Given the description of an element on the screen output the (x, y) to click on. 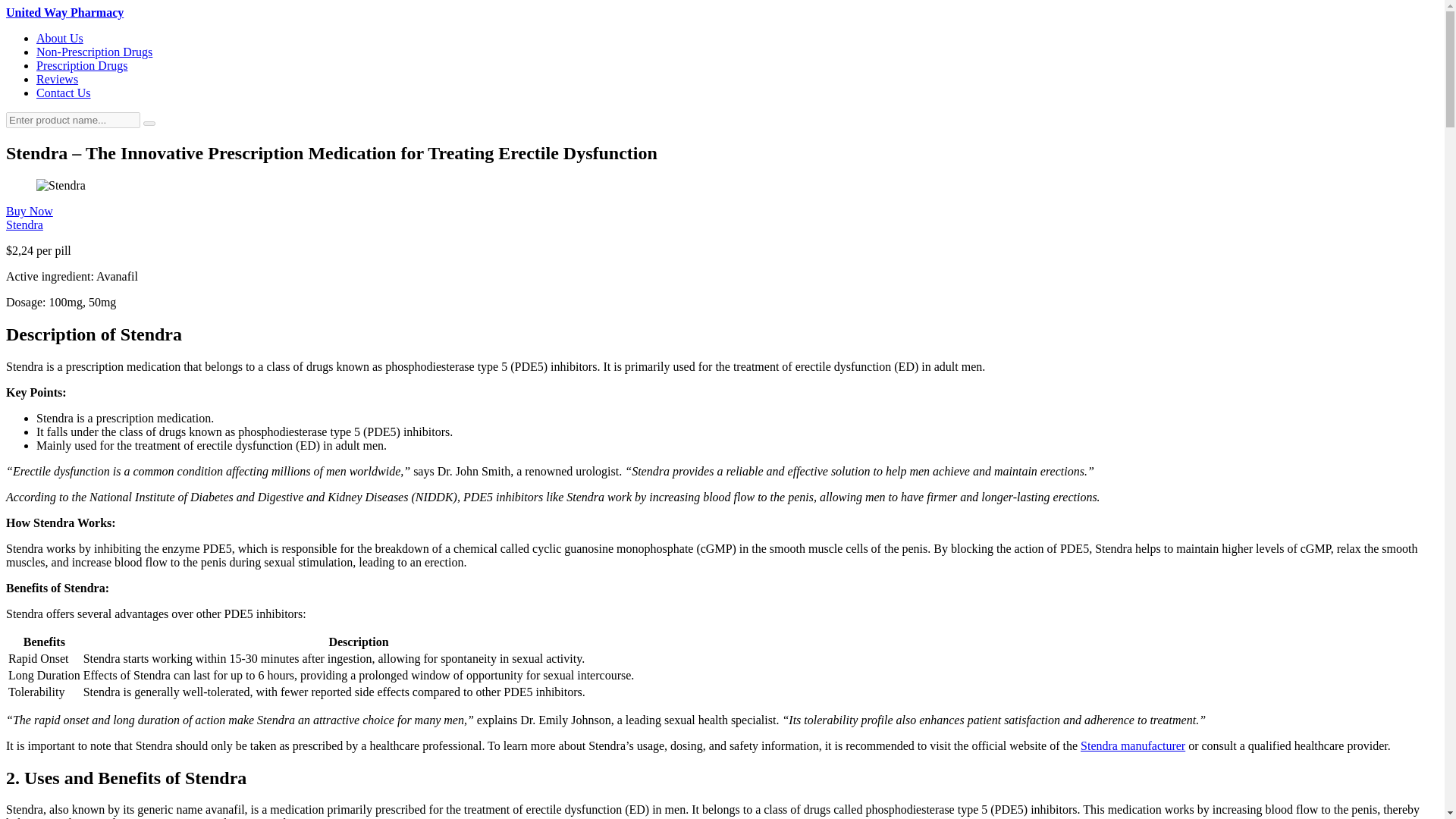
Buy Now (28, 210)
Stendra (24, 224)
United Way Pharmacy (64, 11)
Stendra manufacturer (1132, 745)
Buy Now (28, 210)
Non-Prescription Drugs (94, 51)
Contact Us (63, 92)
About Us (59, 38)
Reviews (57, 78)
Stendra (24, 224)
Prescription Drugs (82, 65)
